Given the description of an element on the screen output the (x, y) to click on. 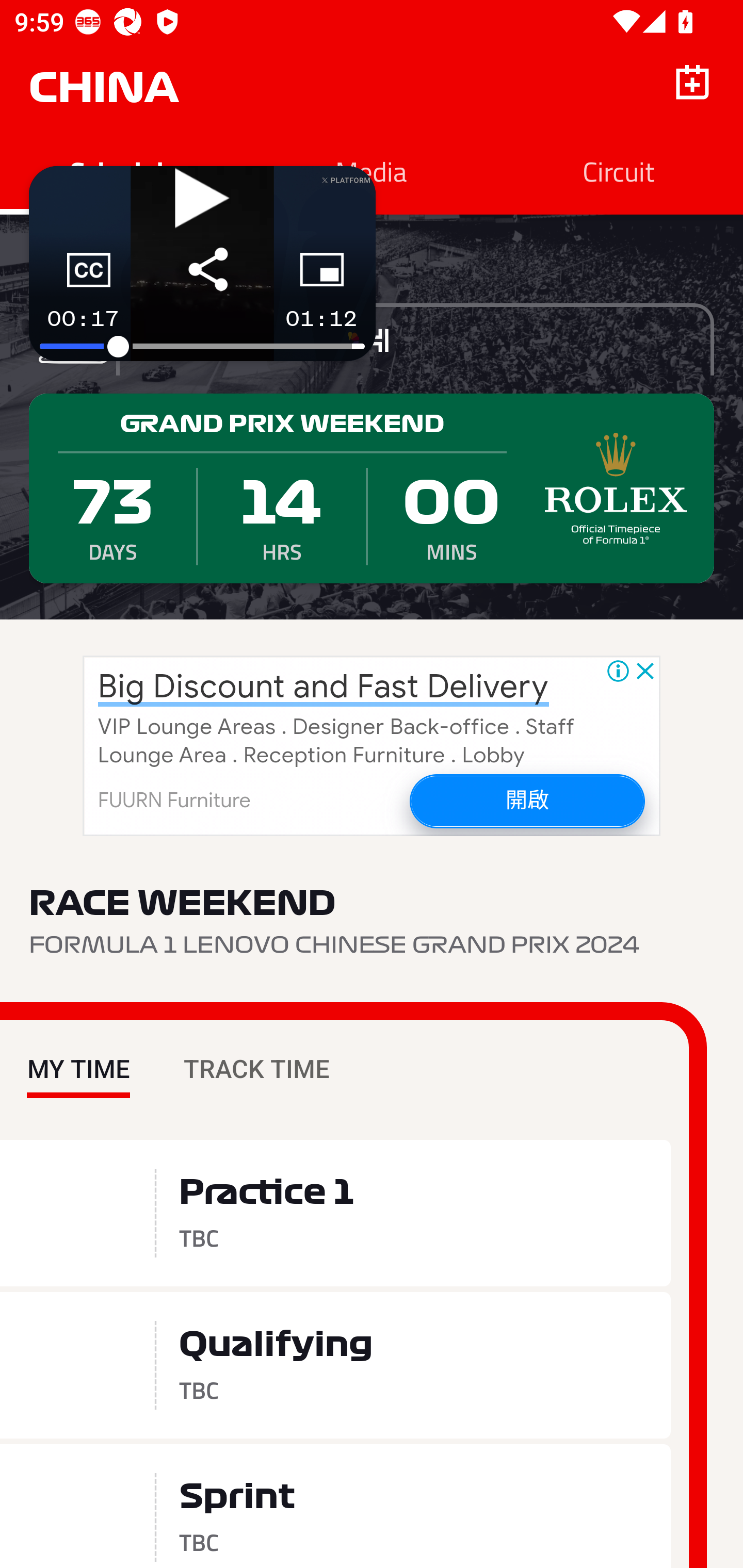
Circuit (619, 171)
Big Discount and Fast Delivery (323, 686)
開啟 (526, 801)
FUURN Furniture (174, 800)
TRACK TIME (256, 1054)
